Given the description of an element on the screen output the (x, y) to click on. 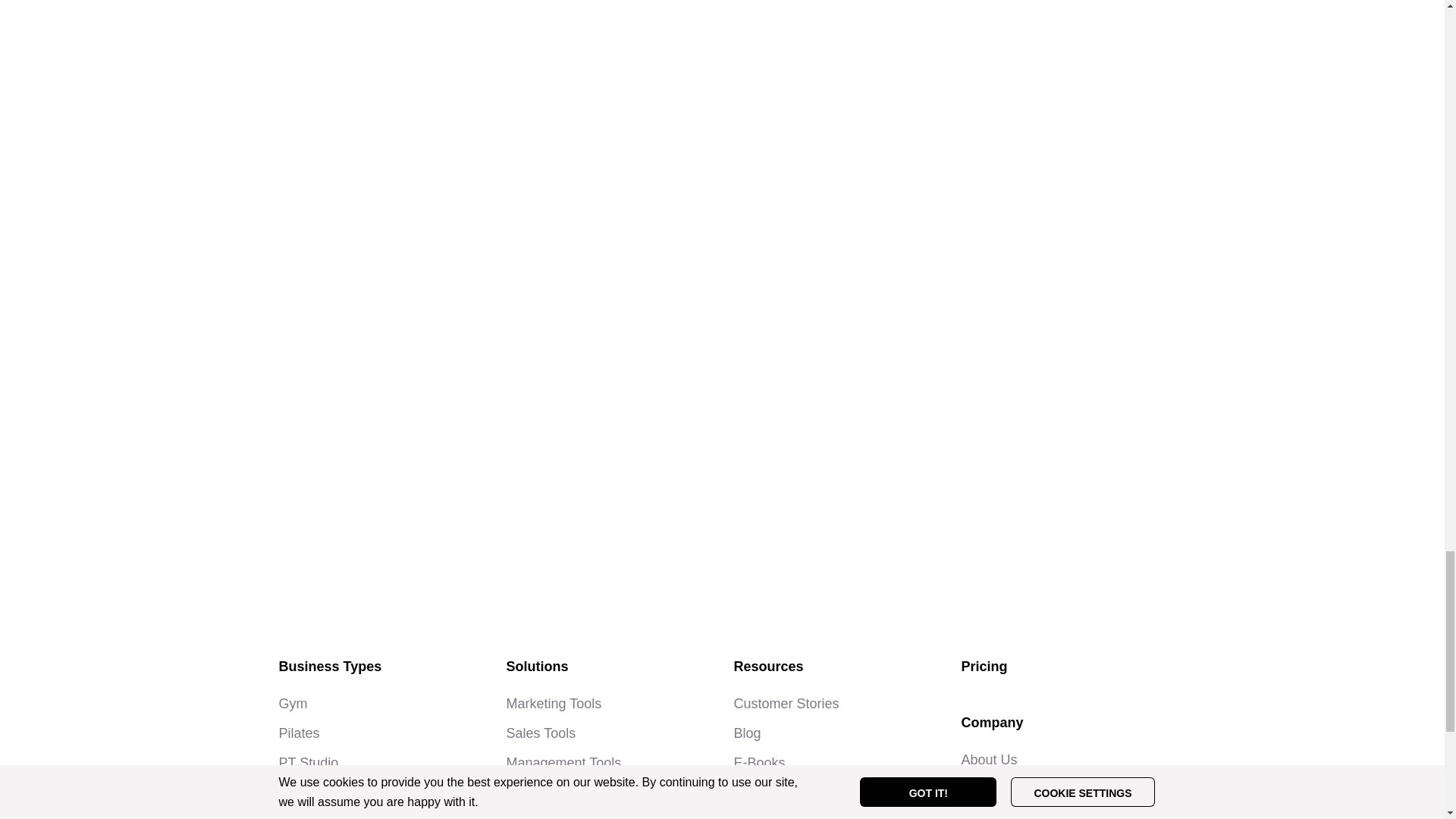
Gym (293, 703)
PT Studio (309, 762)
Pilates (299, 733)
